Given the description of an element on the screen output the (x, y) to click on. 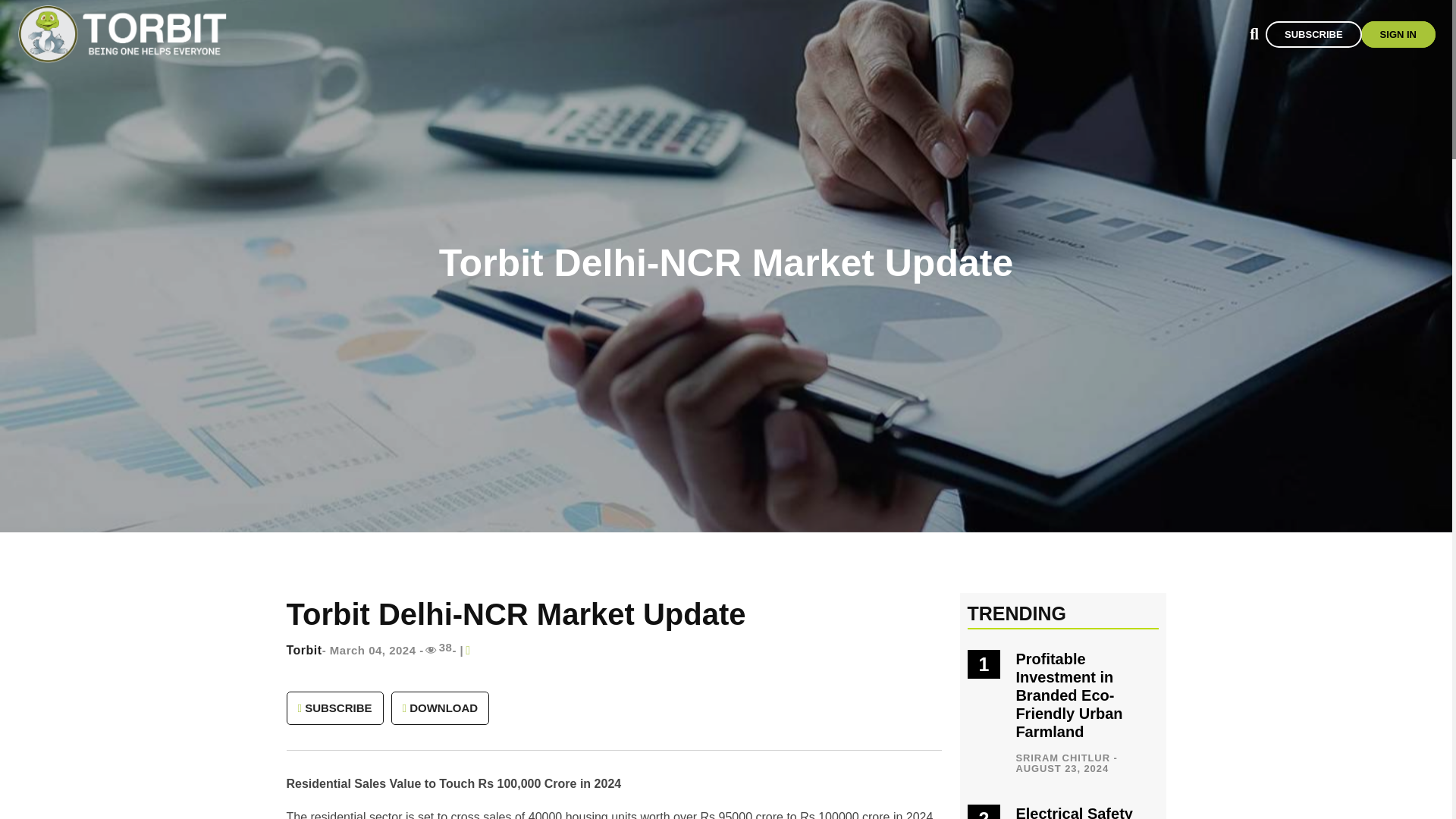
SUBSCRIBE (335, 707)
Profitable Investment in Branded Eco-Friendly Urban Farmland (1068, 695)
Torbit (303, 657)
SUBSCRIBE (1313, 34)
DOWNLOAD (440, 707)
SIGN IN (1398, 34)
